Given the description of an element on the screen output the (x, y) to click on. 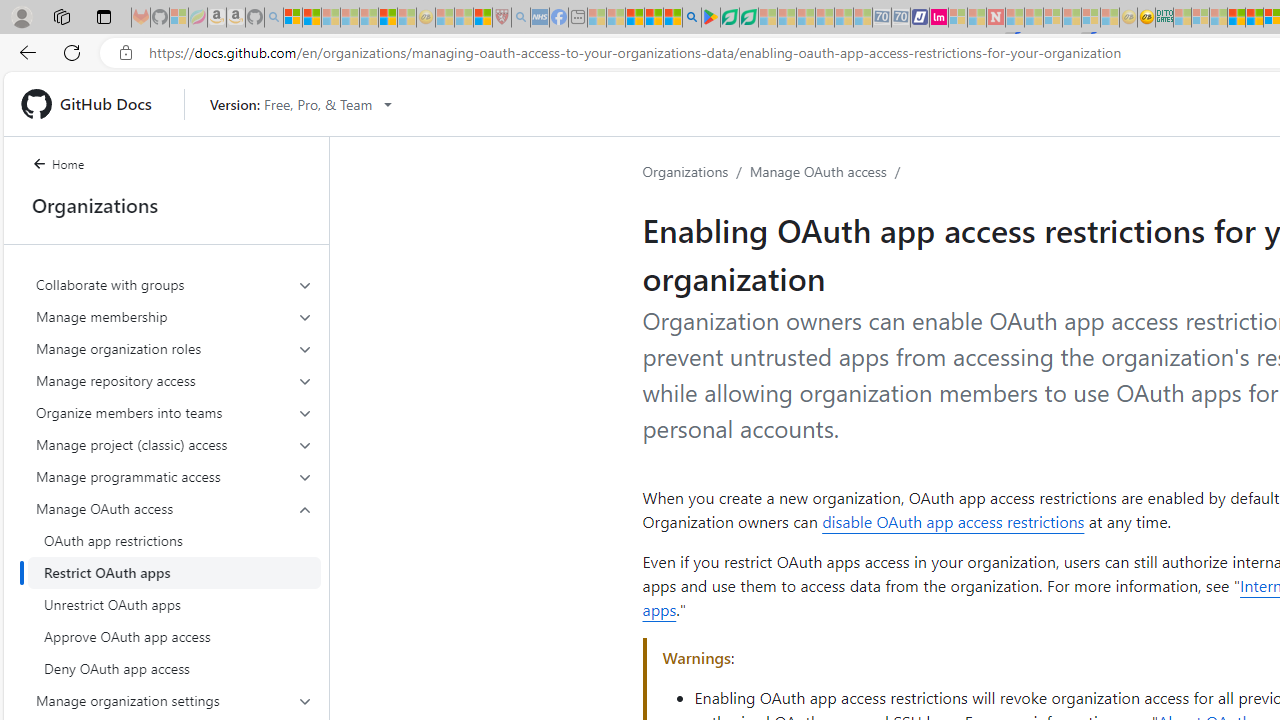
Collaborate with groups (174, 284)
Manage OAuth access (174, 588)
